Given the description of an element on the screen output the (x, y) to click on. 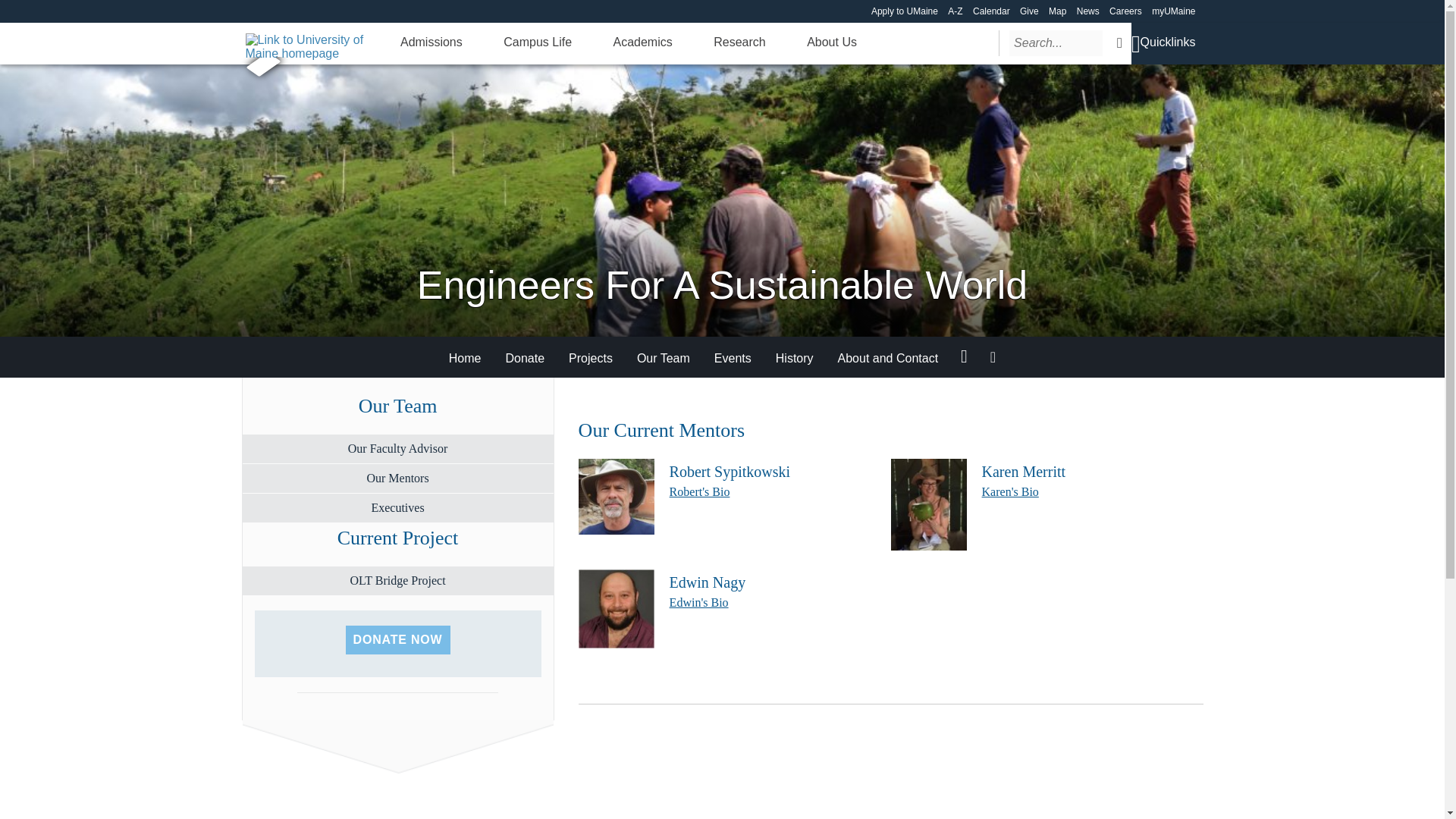
Careers (1125, 10)
Apply to UMaine (903, 10)
Map (1056, 10)
myUMaine (1173, 10)
Search (1119, 42)
Calendar (991, 10)
Admissions (431, 42)
A-Z (954, 10)
Search for: (1055, 43)
News (1088, 10)
Give (1029, 10)
